Given the description of an element on the screen output the (x, y) to click on. 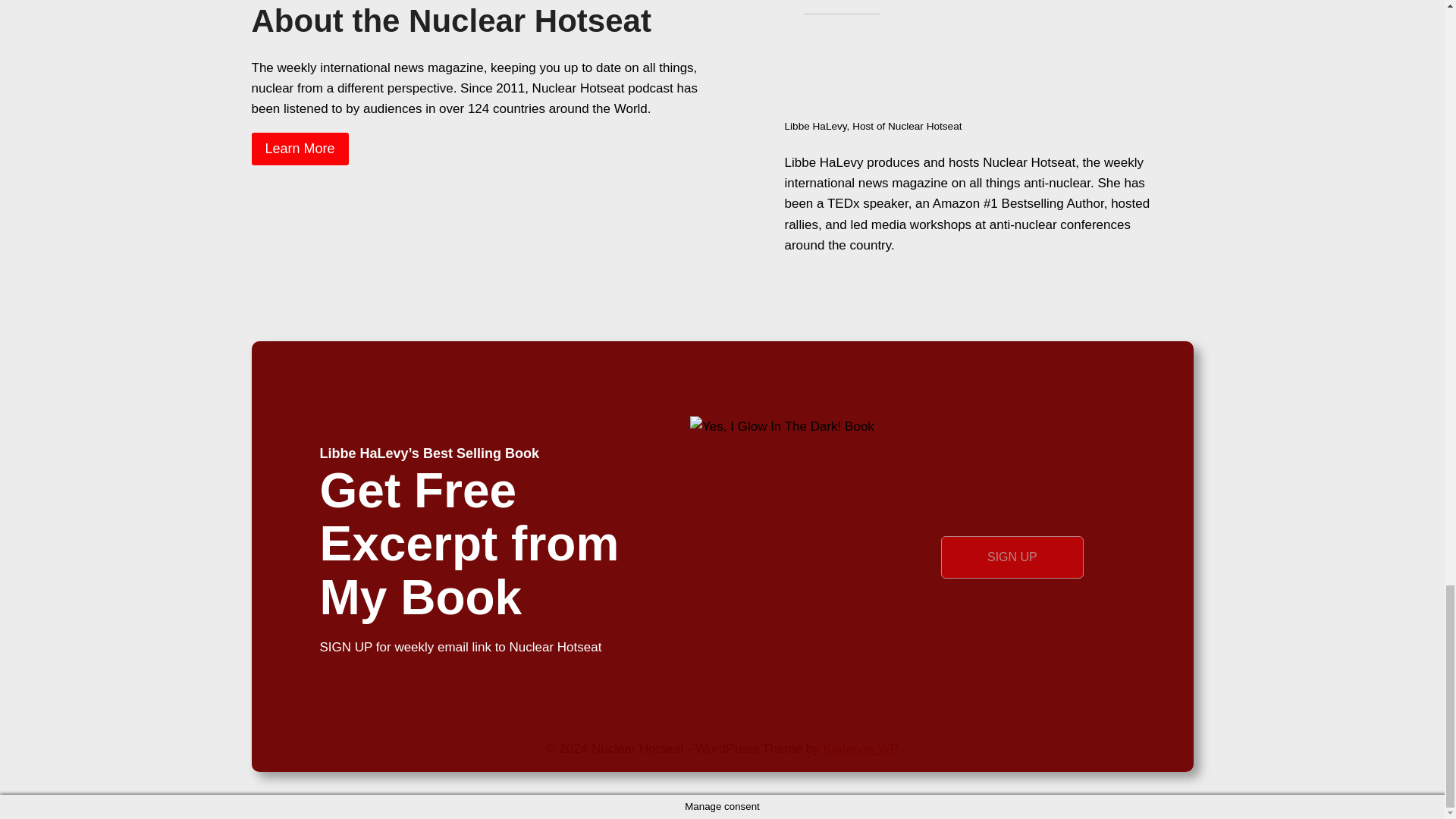
Kadence WP (861, 748)
SIGN UP (1011, 557)
Learn More (300, 148)
